Given the description of an element on the screen output the (x, y) to click on. 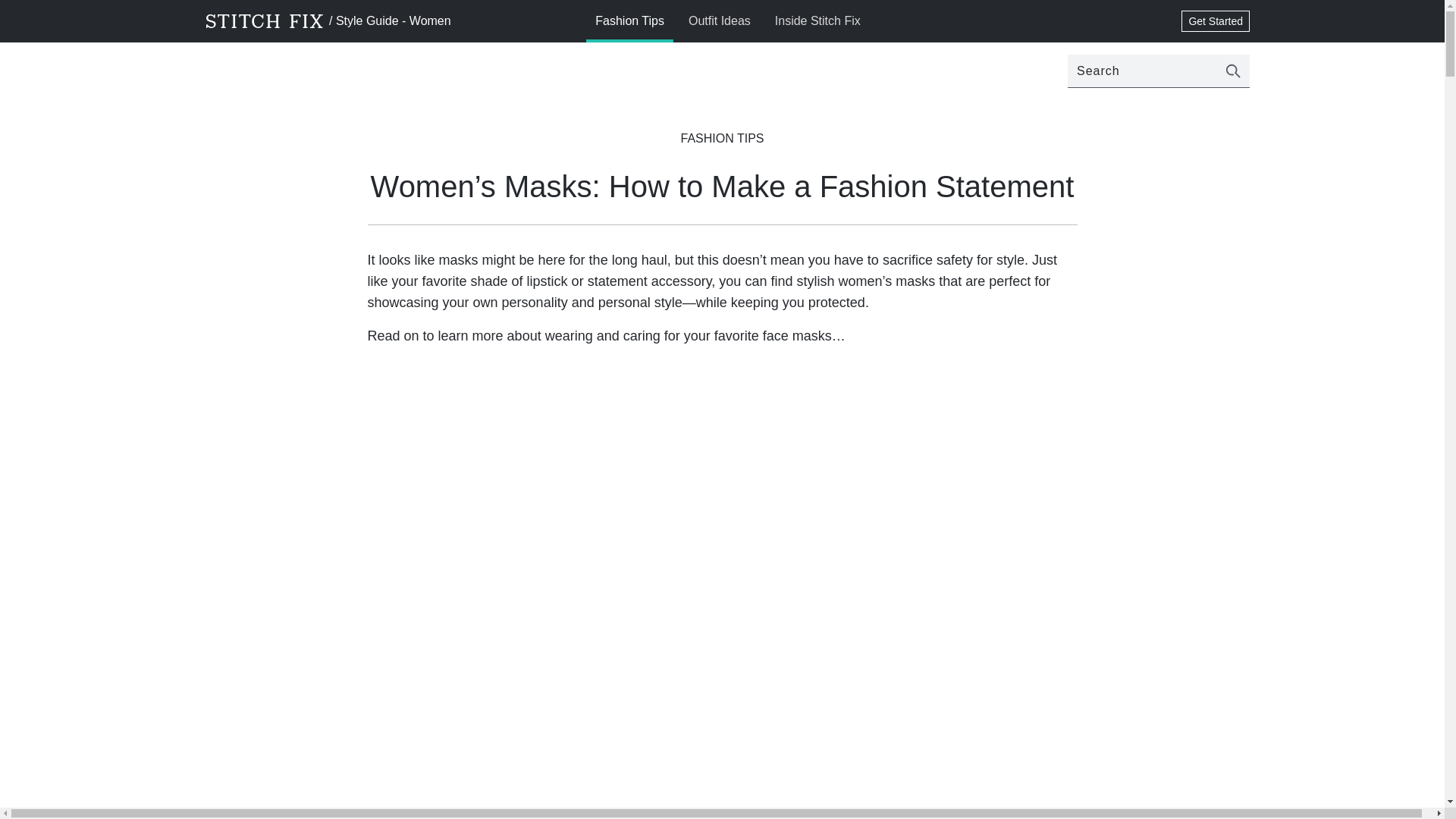
Outfit Ideas (719, 21)
Get Started (1214, 20)
Stitch Fix (264, 20)
FASHION TIPS (722, 137)
Inside Stitch Fix (817, 21)
Fashion Tips (629, 21)
